Given the description of an element on the screen output the (x, y) to click on. 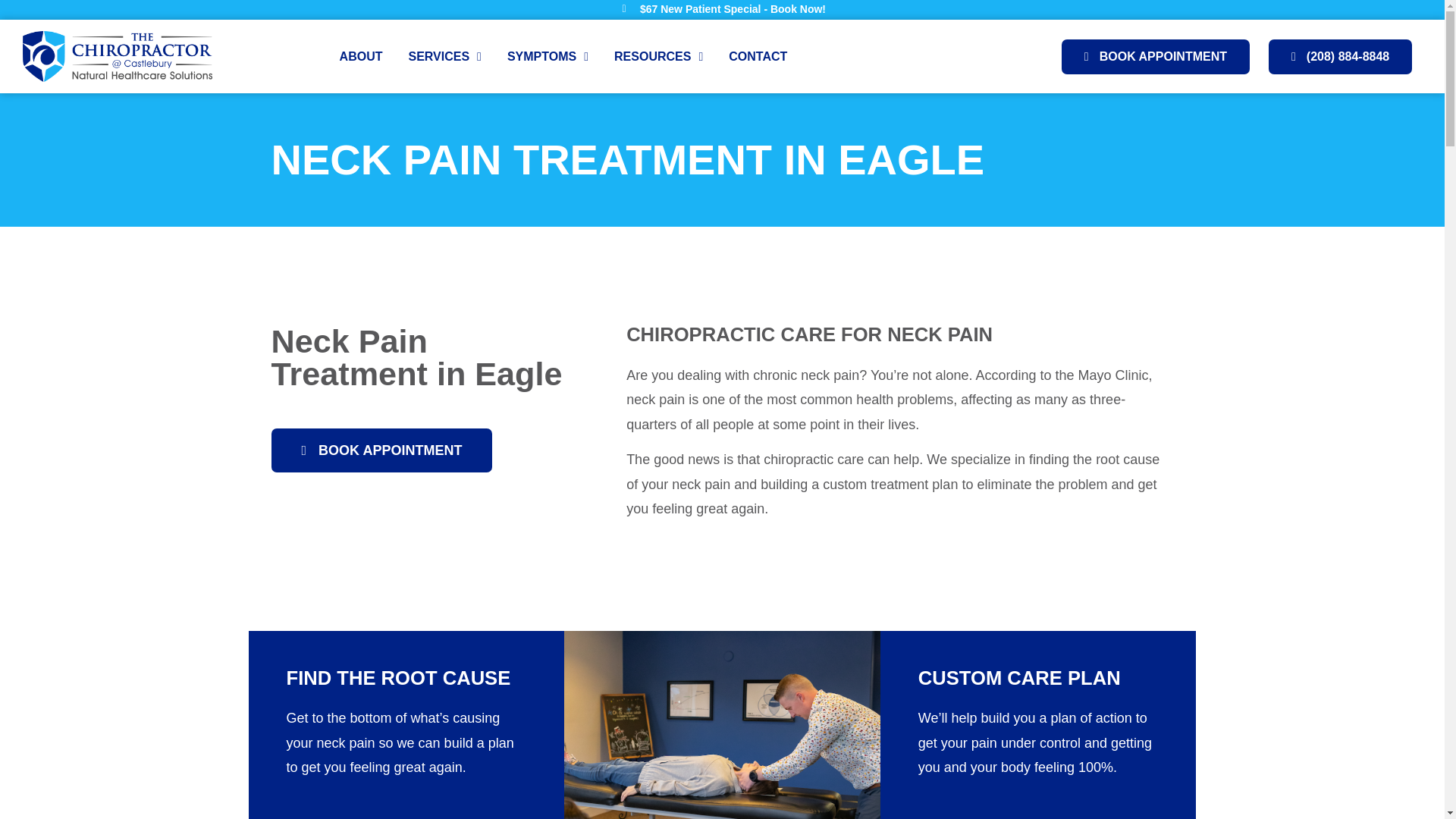
SERVICES (443, 56)
ABOUT (361, 56)
SYMPTOMS (548, 56)
